Given the description of an element on the screen output the (x, y) to click on. 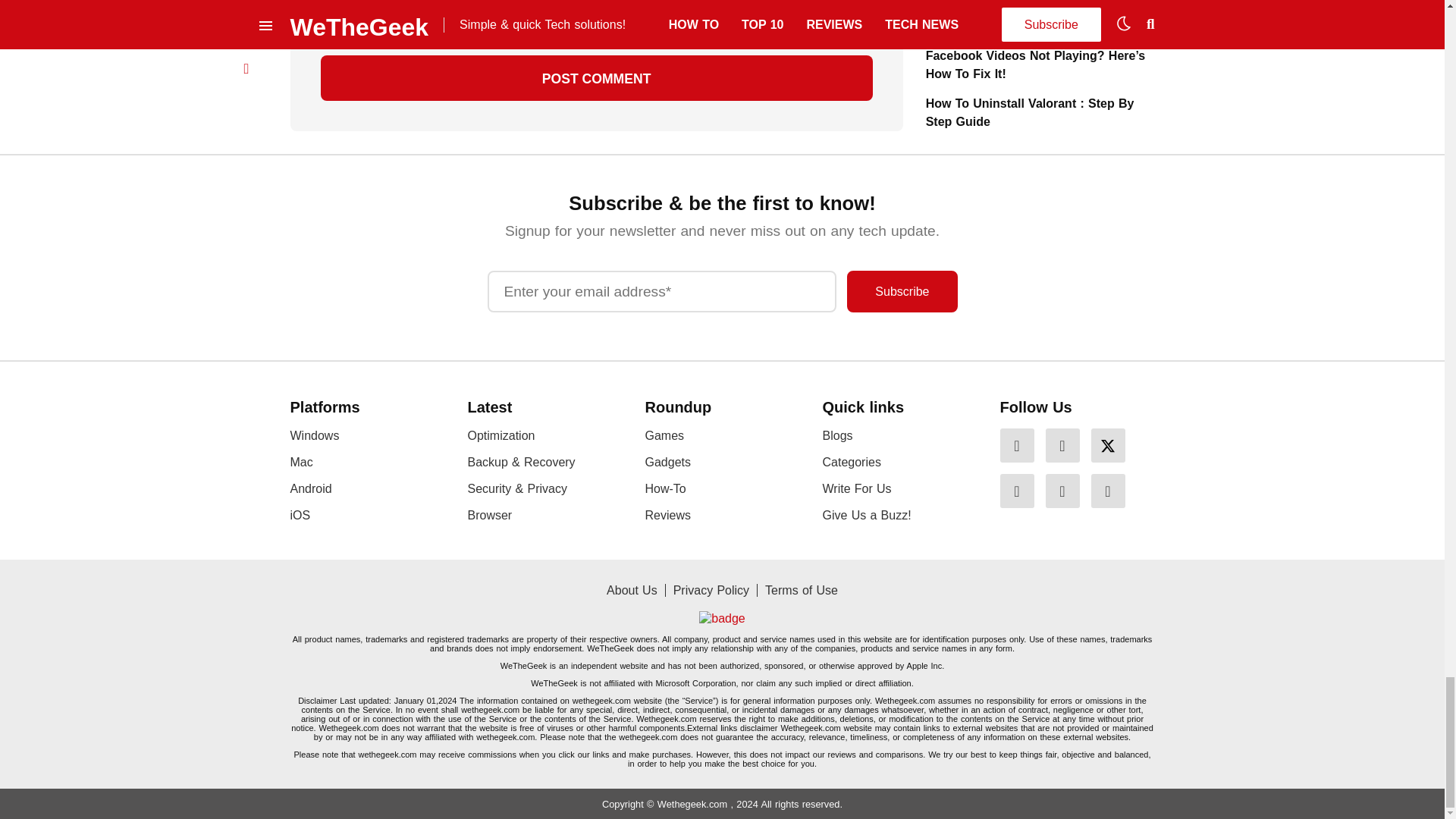
yes (325, 22)
Post Comment (596, 77)
Subscribe (901, 291)
